Given the description of an element on the screen output the (x, y) to click on. 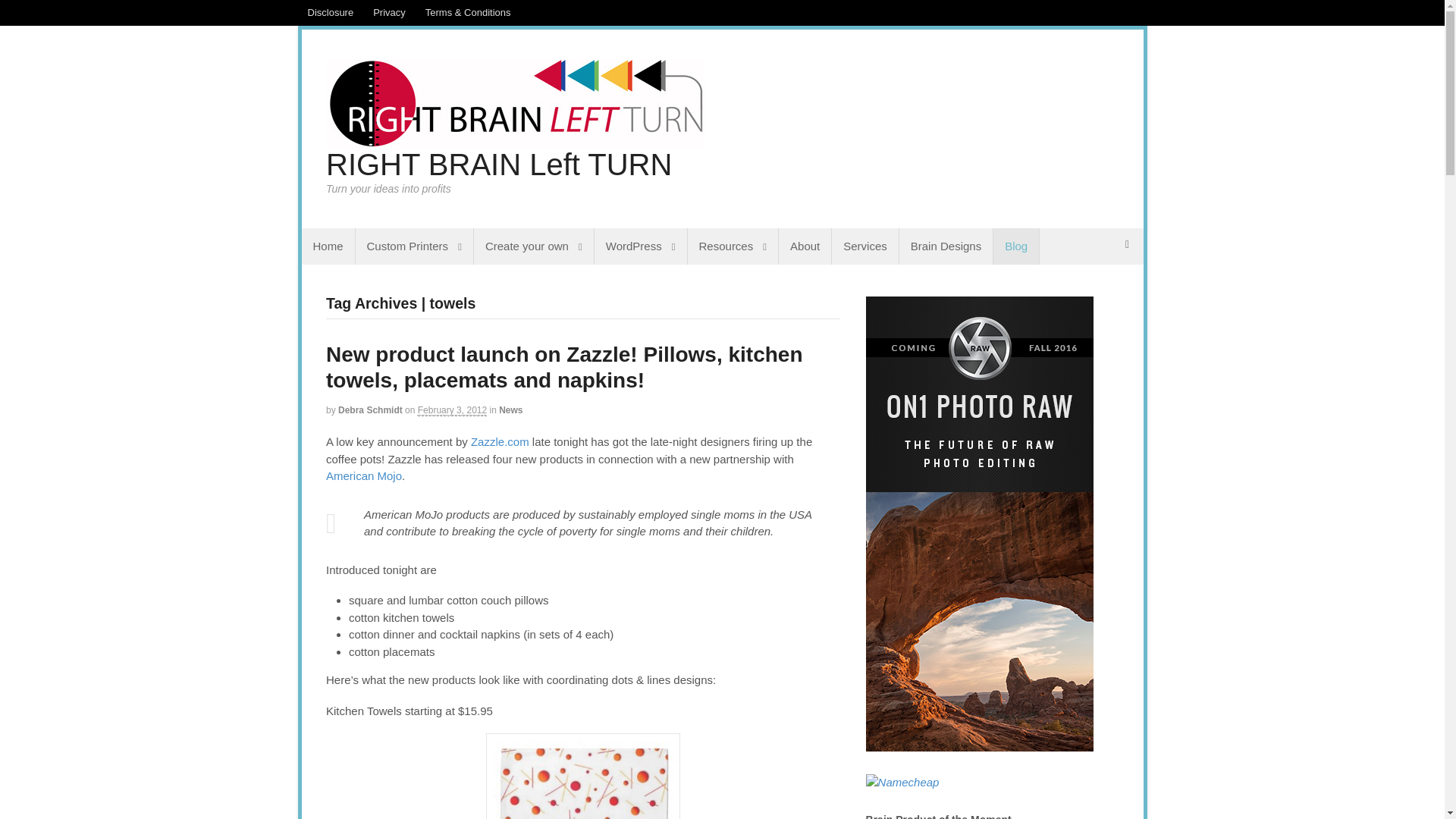
Brain Designs (945, 246)
Screen shot 2012-02-03 at 12.36.36 AM (582, 776)
Turn your ideas into profits (515, 141)
Custom Printers (414, 246)
Zazzle.com (499, 440)
Home (328, 246)
About (804, 246)
Posts by Debra Schmidt (370, 409)
View all items in News (510, 409)
